Given the description of an element on the screen output the (x, y) to click on. 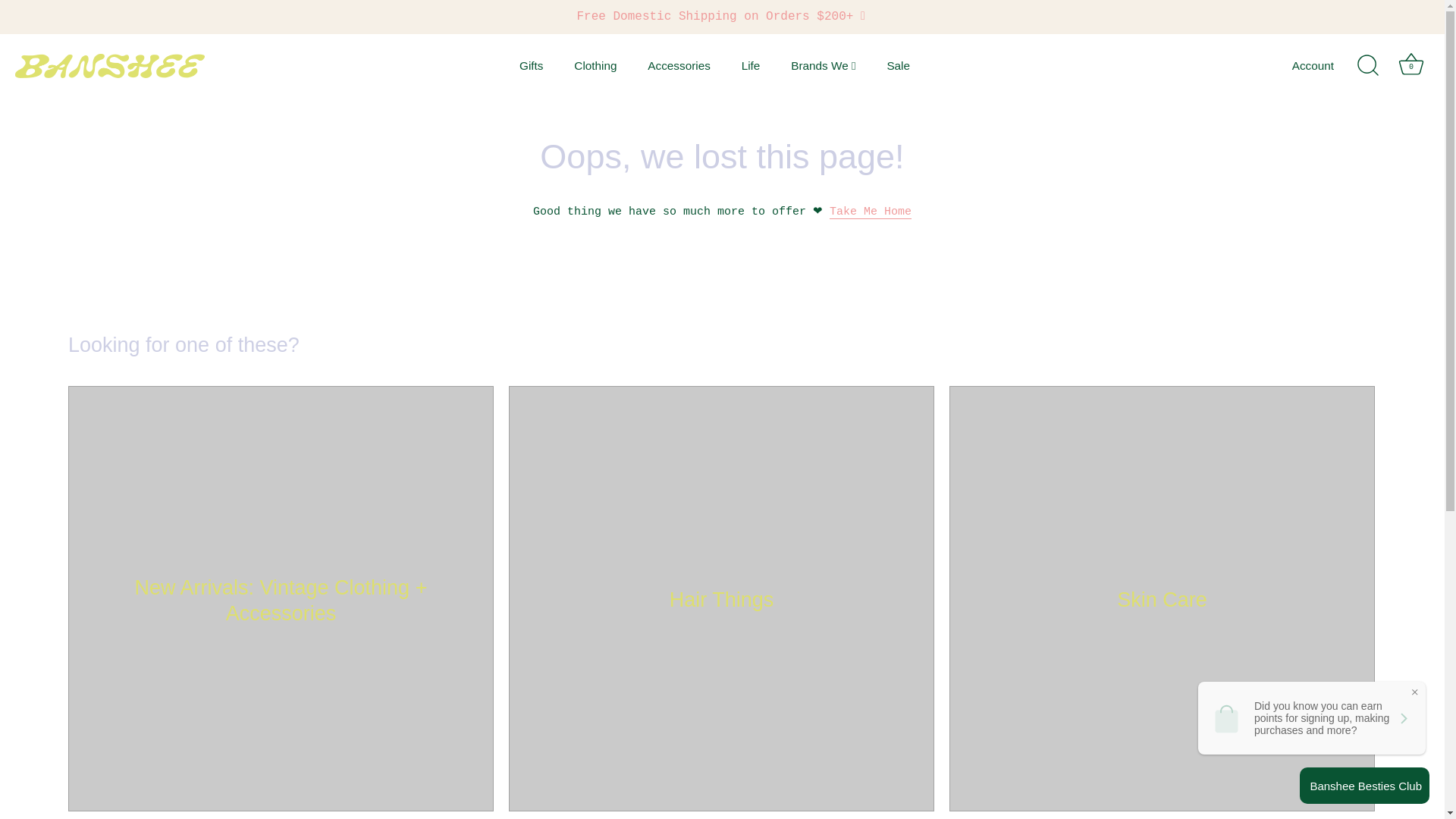
Basket (1410, 63)
Gifts (531, 65)
Life (749, 65)
Accessories (678, 65)
Clothing (595, 65)
LoyaltyLion beacon (1364, 785)
